Given the description of an element on the screen output the (x, y) to click on. 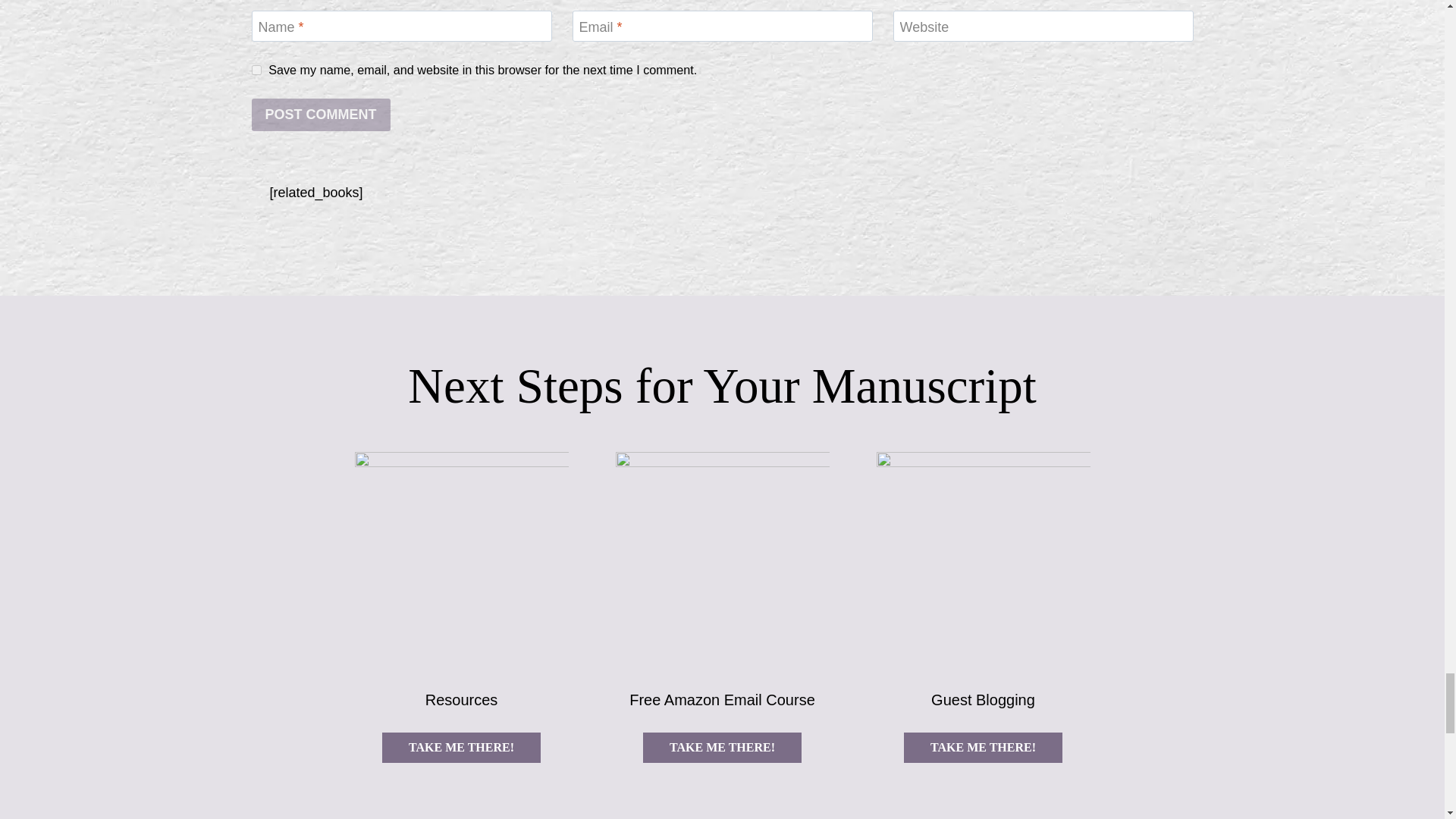
yes (256, 70)
Post Comment (320, 114)
